Given the description of an element on the screen output the (x, y) to click on. 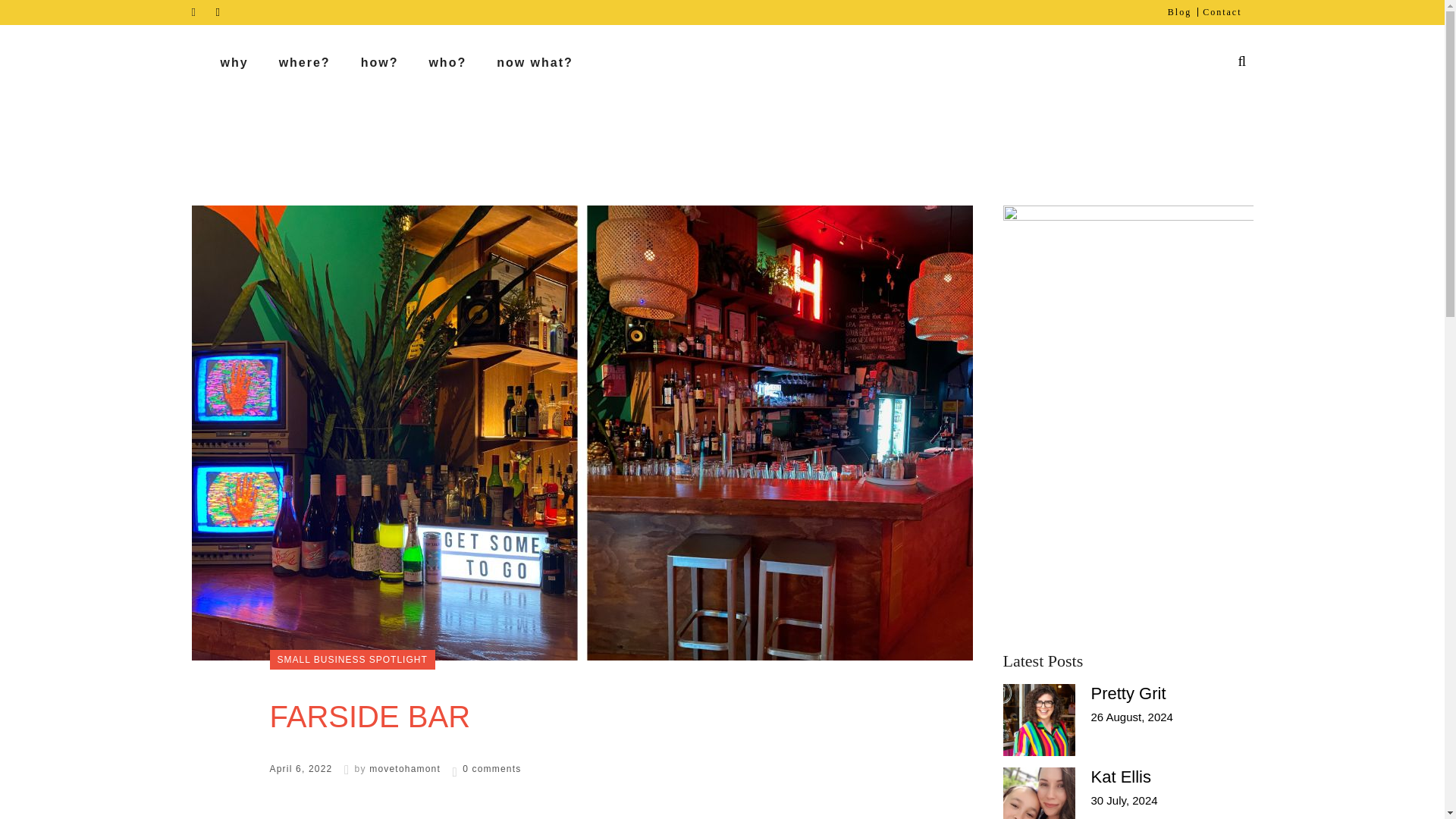
Contact (1216, 12)
who? (447, 62)
where? (304, 62)
Blog (1173, 12)
how? (379, 62)
now what? (534, 62)
